Given the description of an element on the screen output the (x, y) to click on. 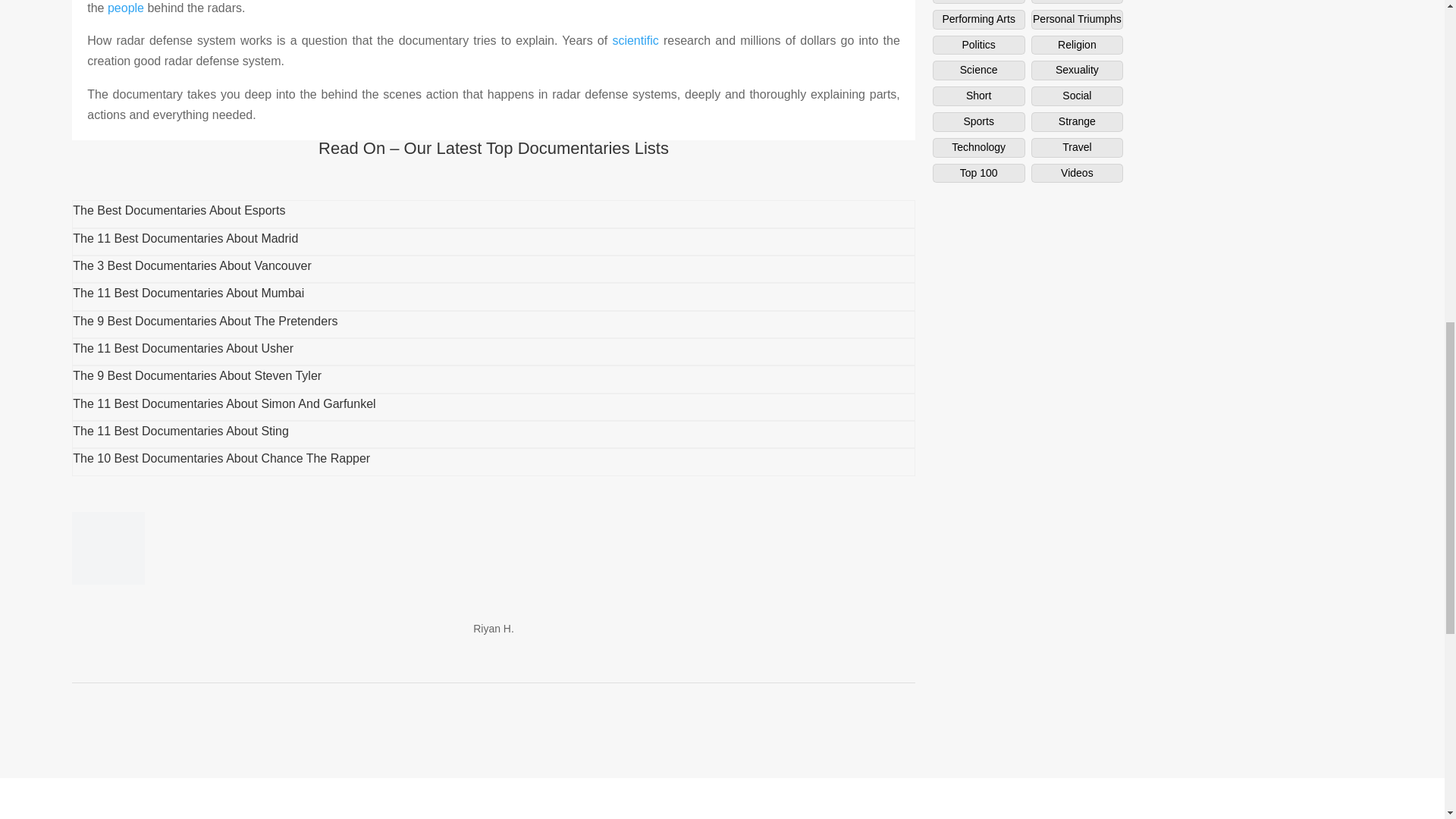
The 11 Best Documentaries About Sting (180, 431)
The 9 Best Documentaries About The Pretenders (204, 320)
The 11 Best Documentaries About Simon And Garfunkel (223, 403)
The 11 Best Documentaries About Madrid (185, 237)
The 10 Best Documentaries About Chance The Rapper (220, 459)
The 11 Best Documentaries About Usher (183, 348)
The 3 Best Documentaries About Vancouver (191, 265)
people (125, 7)
The 11 Best Documentaries About Mumbai (188, 292)
The 9 Best Documentaries About Steven Tyler (196, 375)
The Best Documentaries About Esports (178, 210)
scientific (634, 40)
